Given the description of an element on the screen output the (x, y) to click on. 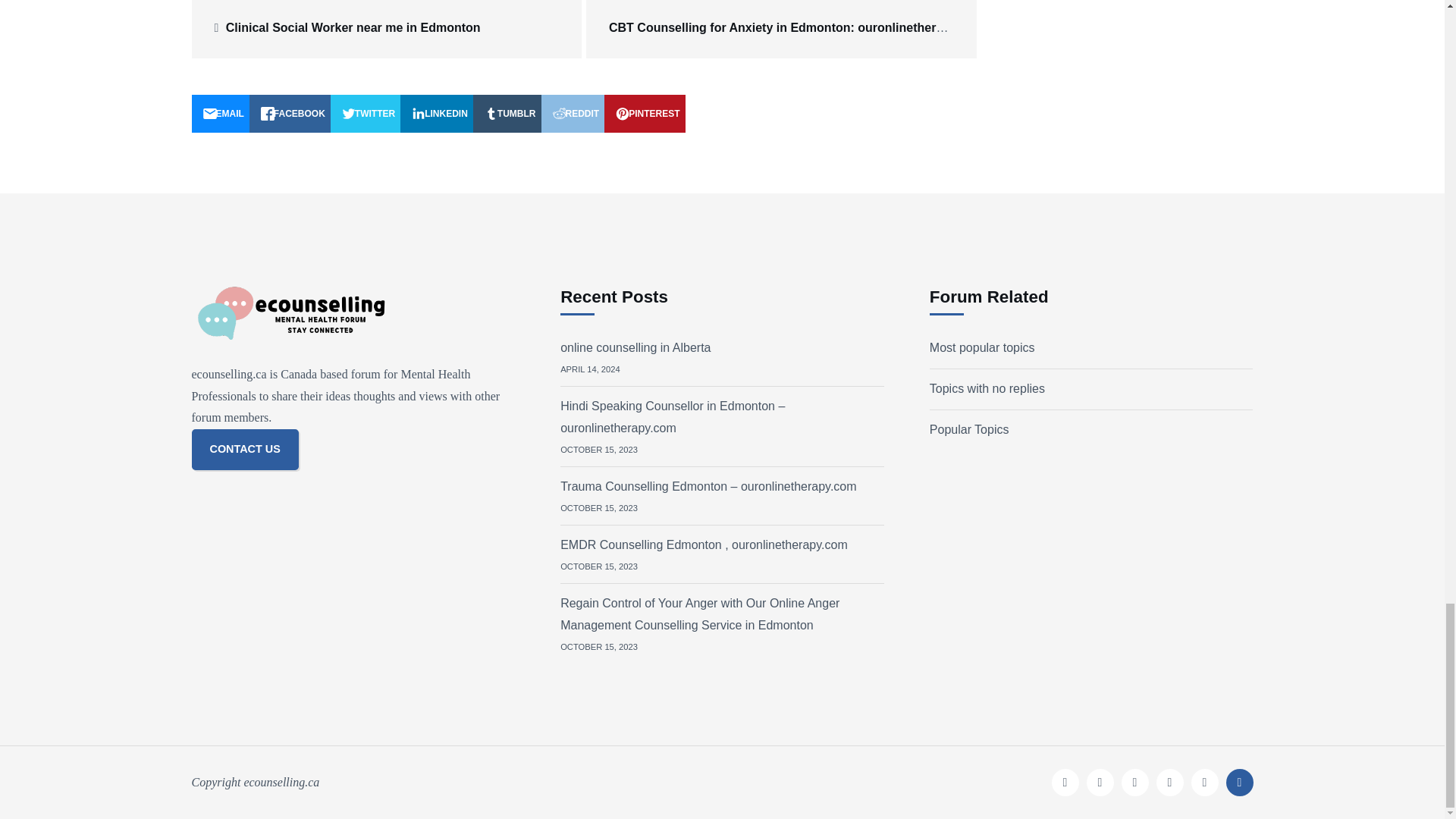
PINTEREST (644, 113)
Twitter (1099, 782)
Facebook (1064, 782)
Google Plus (1134, 782)
TUMBLR (507, 113)
EMAIL (219, 113)
TWITTER (365, 113)
Go to Top (1238, 782)
LINKEDIN (436, 113)
